Given the description of an element on the screen output the (x, y) to click on. 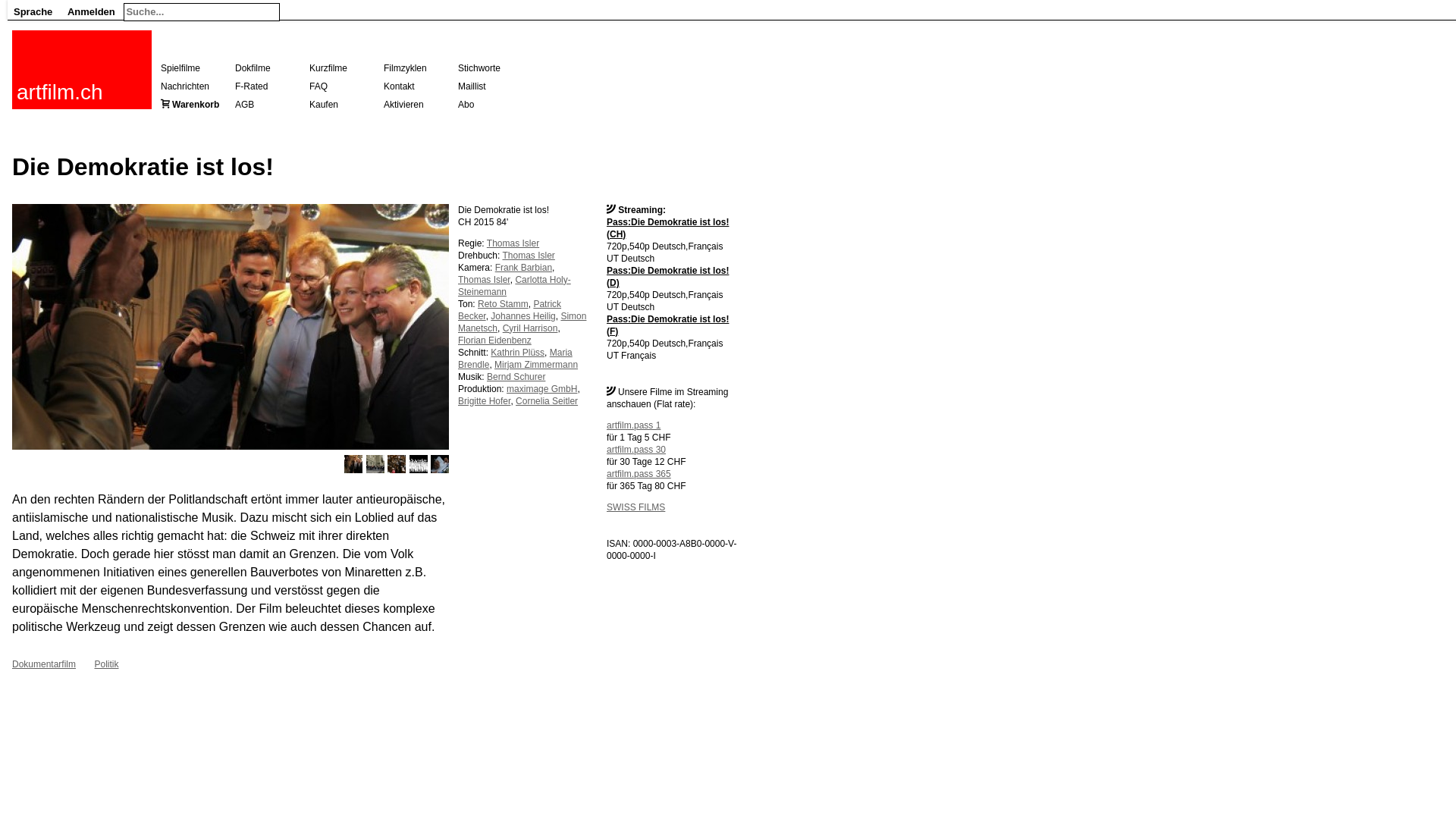
Kurzfilme Element type: text (328, 67)
Dokfilme Element type: text (252, 67)
artfilm.pass 30 Element type: text (635, 449)
artfilm.pass 1 Element type: text (633, 425)
Dokumentarfilm Element type: text (43, 663)
Nachrichten Element type: text (184, 86)
Maillist Element type: text (472, 86)
Patrick Becker Element type: text (509, 309)
SWISS FILMS Element type: text (635, 507)
Brigitte Hofer Element type: text (484, 400)
Kaufen Element type: text (323, 104)
Simon Manetsch Element type: text (522, 321)
Maria Brendle Element type: text (515, 358)
Cyril Harrison Element type: text (530, 328)
FAQ Element type: text (318, 86)
maximage GmbH Element type: text (541, 388)
Anmelden Element type: text (91, 9)
Mirjam Zimmermann Element type: text (535, 364)
Florian Eidenbenz Element type: text (494, 340)
Sprache Element type: text (32, 9)
Pass:Die Demokratie ist los! (D) Element type: text (667, 276)
Carlotta Holy-Steinemann Element type: text (514, 285)
artfilm.pass 365 Element type: text (638, 473)
Politik Element type: text (106, 663)
Johannes Heilig Element type: text (522, 315)
Reto Stamm Element type: text (502, 303)
Bernd Schurer Element type: text (515, 376)
Warenkorb Element type: text (195, 104)
Pass:Die Demokratie ist los! (CH) Element type: text (667, 227)
Pass:Die Demokratie ist los! (F) Element type: text (667, 324)
Kontakt Element type: text (398, 86)
Frank Barbian Element type: text (523, 267)
Spielfilme Element type: text (180, 67)
AGB Element type: text (244, 104)
Aktivieren Element type: text (403, 104)
F-Rated Element type: text (251, 86)
Cornelia Seitler Element type: text (546, 400)
Filmzyklen Element type: text (404, 67)
Abo Element type: text (465, 104)
Thomas Isler Element type: text (512, 243)
Thomas Isler Element type: text (484, 279)
Stichworte Element type: text (479, 67)
Thomas Isler Element type: text (528, 255)
